Given the description of an element on the screen output the (x, y) to click on. 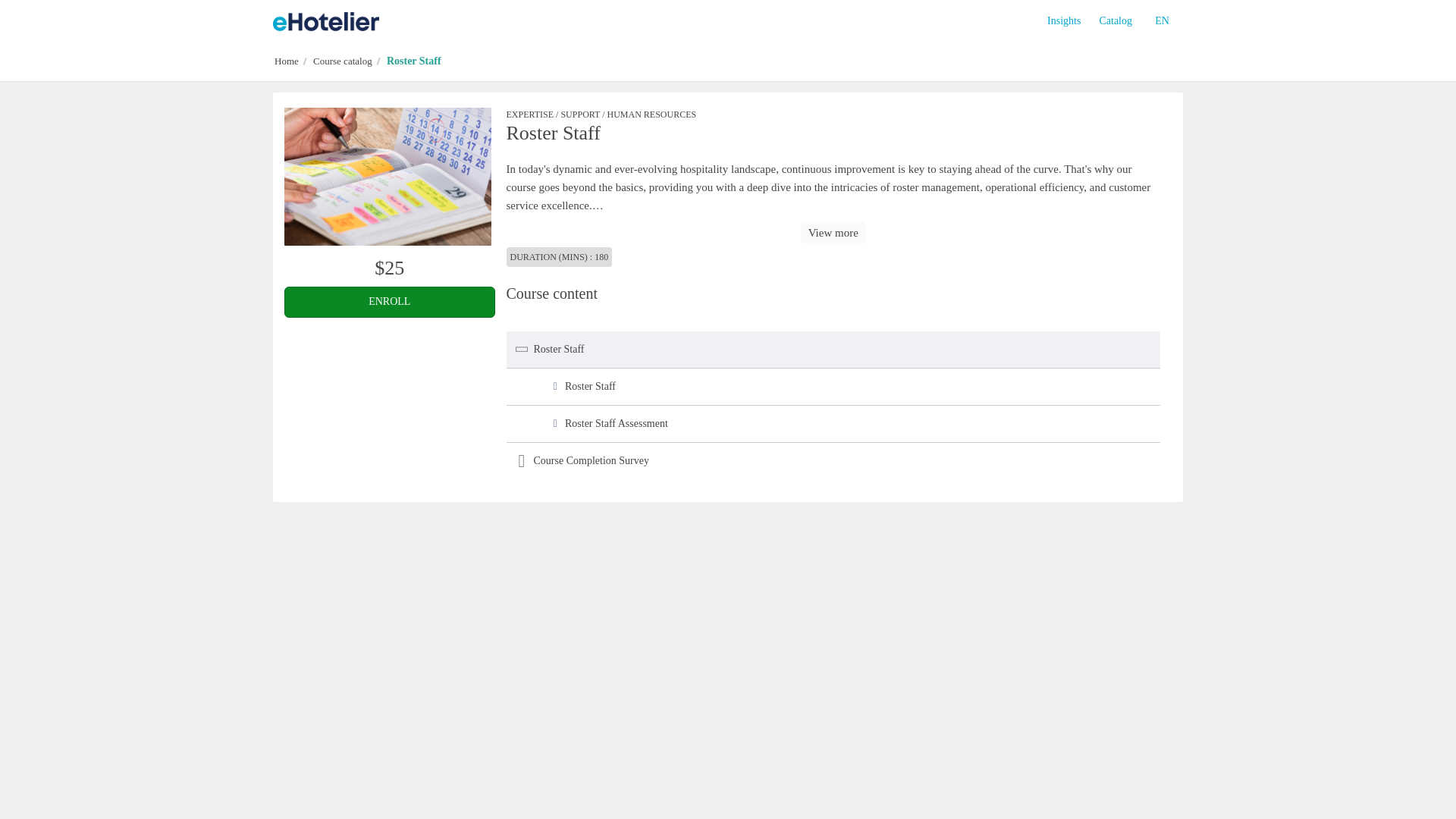
Skip to main content (10, 20)
EN (1161, 21)
Enroll (389, 301)
eHotelier (325, 21)
Catalog (1115, 20)
Insights (1063, 20)
Roster Staff (387, 176)
